Given the description of an element on the screen output the (x, y) to click on. 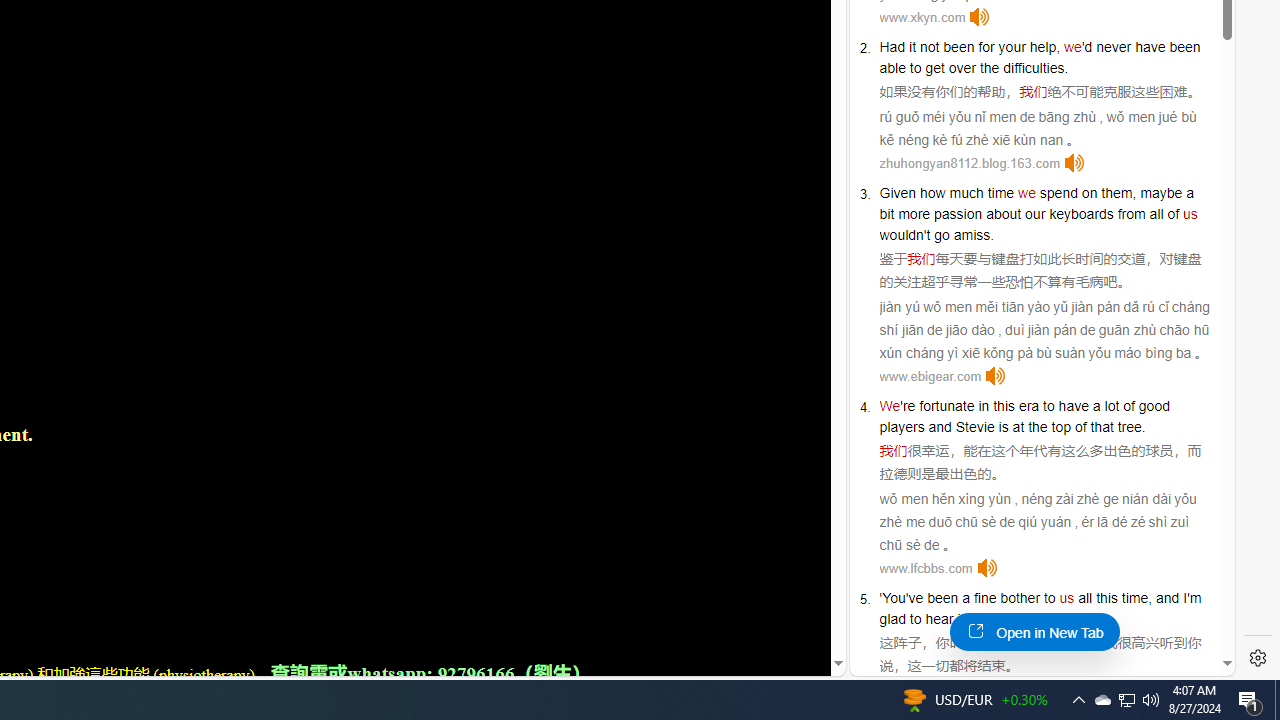
more (914, 213)
a (966, 597)
have (1073, 405)
of (1173, 213)
www.ebigear.com (930, 375)
lot (1111, 405)
on (1089, 192)
over (962, 67)
in (983, 405)
Given (897, 192)
